Given the description of an element on the screen output the (x, y) to click on. 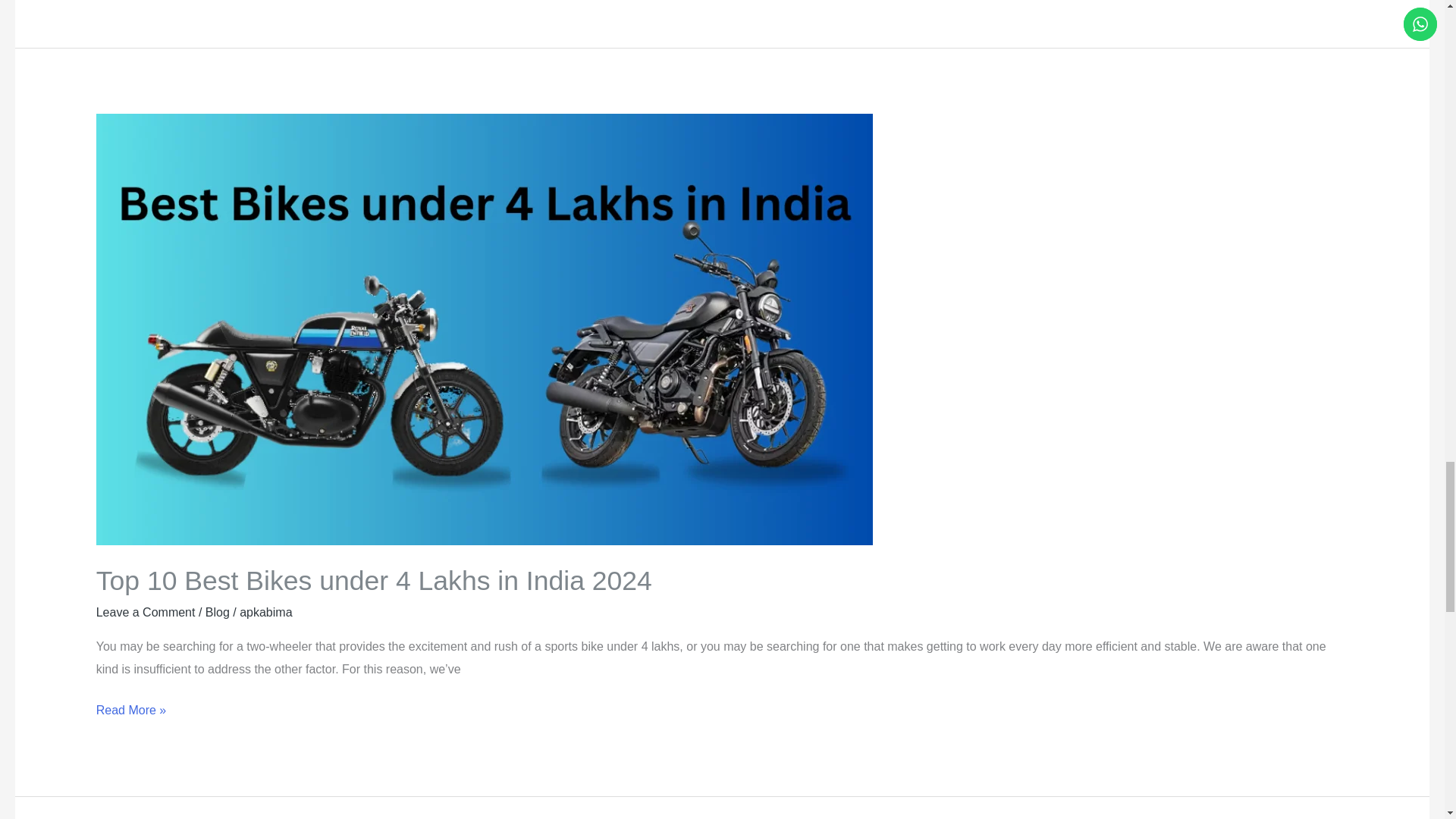
View all posts by apkabima (266, 612)
Leave a Comment (145, 612)
Blog (217, 612)
Top 10 Best Bikes under 4 Lakhs in India 2024 (374, 580)
